Given the description of an element on the screen output the (x, y) to click on. 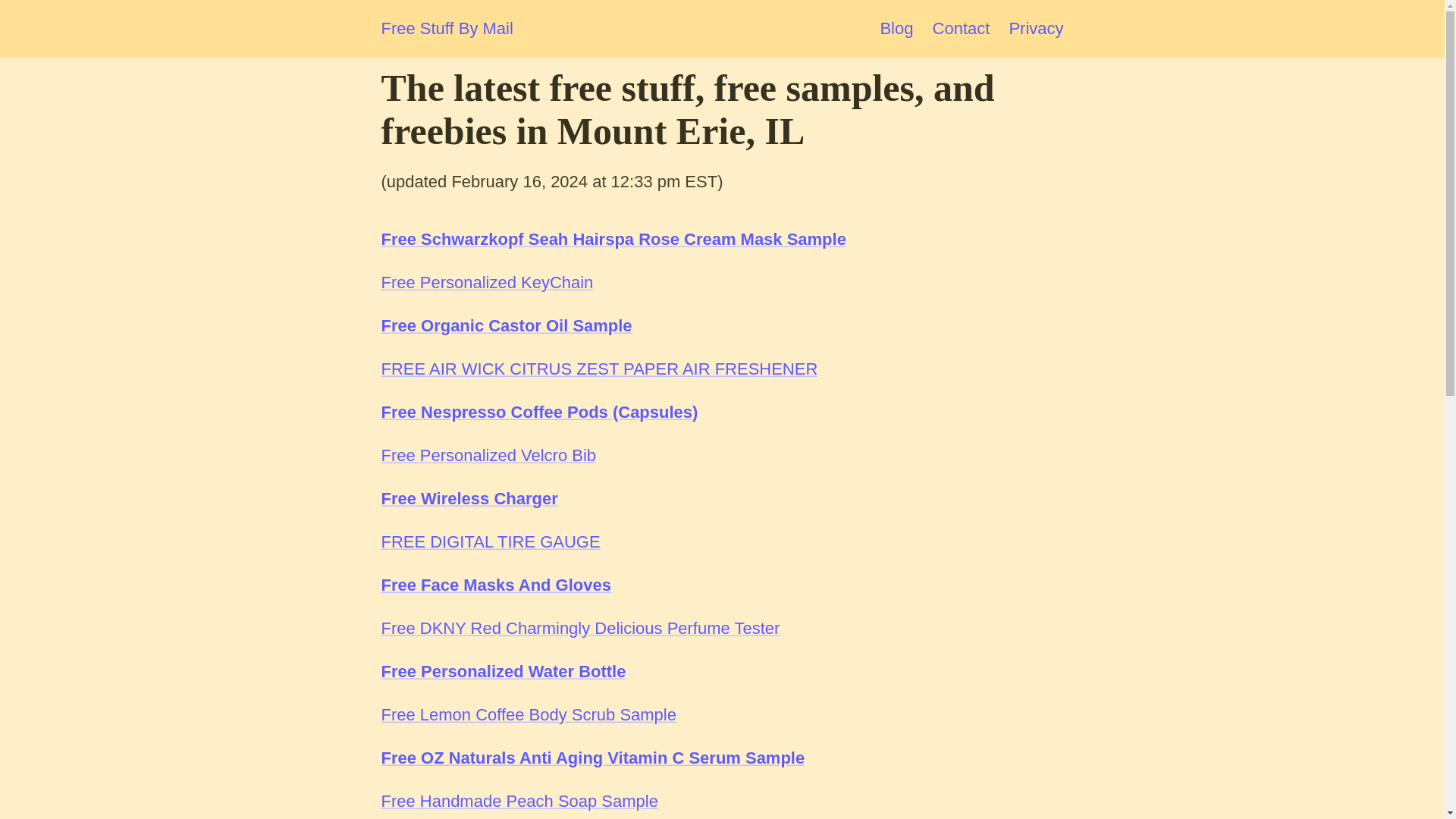
Privacy (1035, 27)
Free Lemon Coffee Body Scrub Sample (527, 714)
Free Handmade Peach Soap Sample (519, 800)
Contact (961, 27)
Free Organic Castor Oil Sample (505, 325)
FREE AIR WICK CITRUS ZEST PAPER AIR FRESHENER (598, 368)
Free Schwarzkopf Seah Hairspa Rose Cream Mask Sample (612, 239)
Free Personalized Water Bottle (503, 670)
Free Wireless Charger (468, 497)
Free DKNY Red Charmingly Delicious Perfume Tester (579, 628)
Free Personalized KeyChain (486, 281)
Free Face Masks And Gloves (495, 584)
Free Stuff By Mail (446, 28)
Free OZ Naturals Anti Aging Vitamin C Serum Sample (592, 757)
FREE DIGITAL TIRE GAUGE (489, 541)
